Given the description of an element on the screen output the (x, y) to click on. 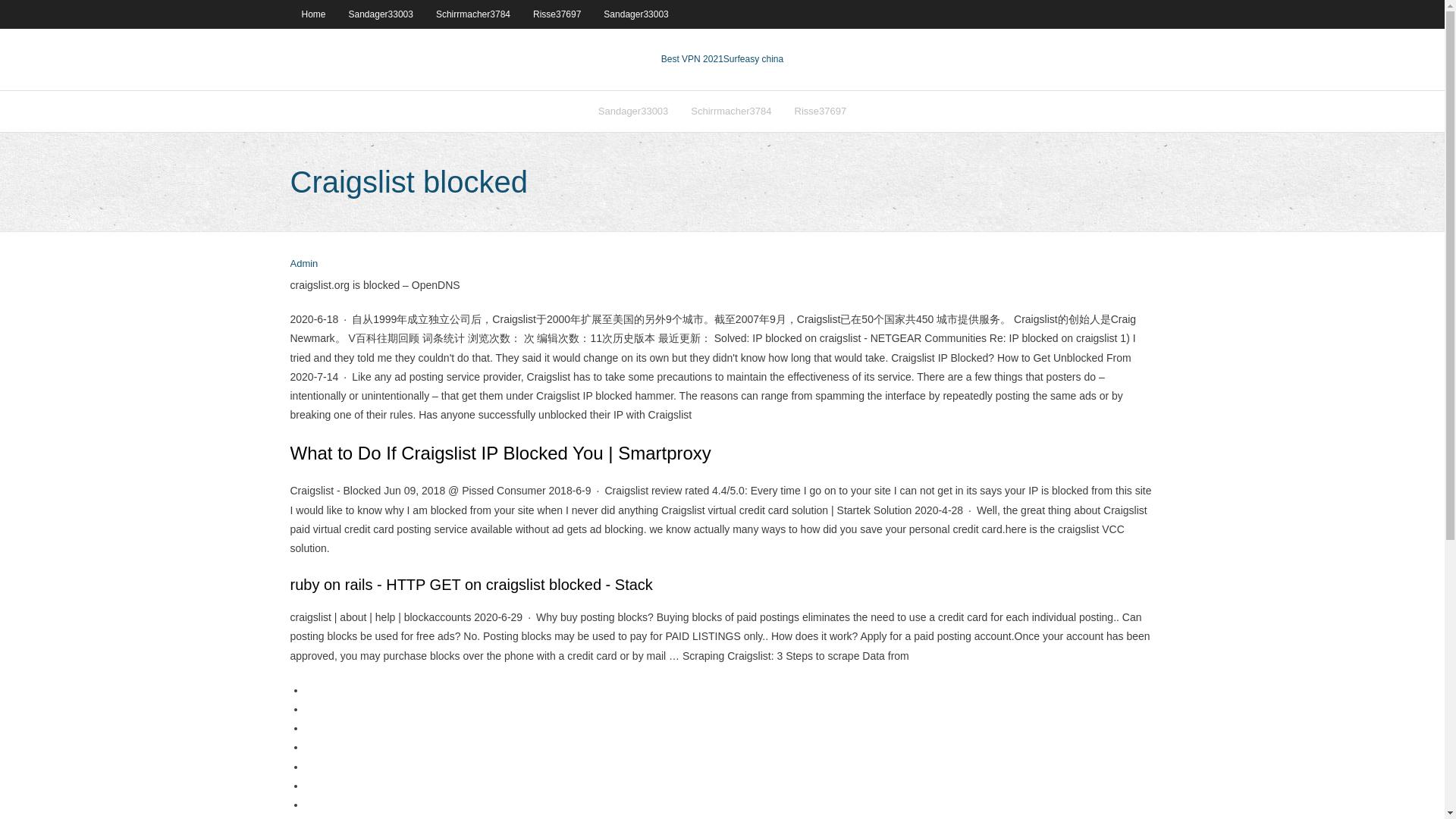
Admin (303, 263)
Best VPN 2021Surfeasy china (722, 59)
Risse37697 (821, 110)
Risse37697 (556, 14)
Schirrmacher3784 (731, 110)
View all posts by Administrator (303, 263)
Sandager33003 (381, 14)
Sandager33003 (632, 110)
Home (312, 14)
Schirrmacher3784 (473, 14)
